Given the description of an element on the screen output the (x, y) to click on. 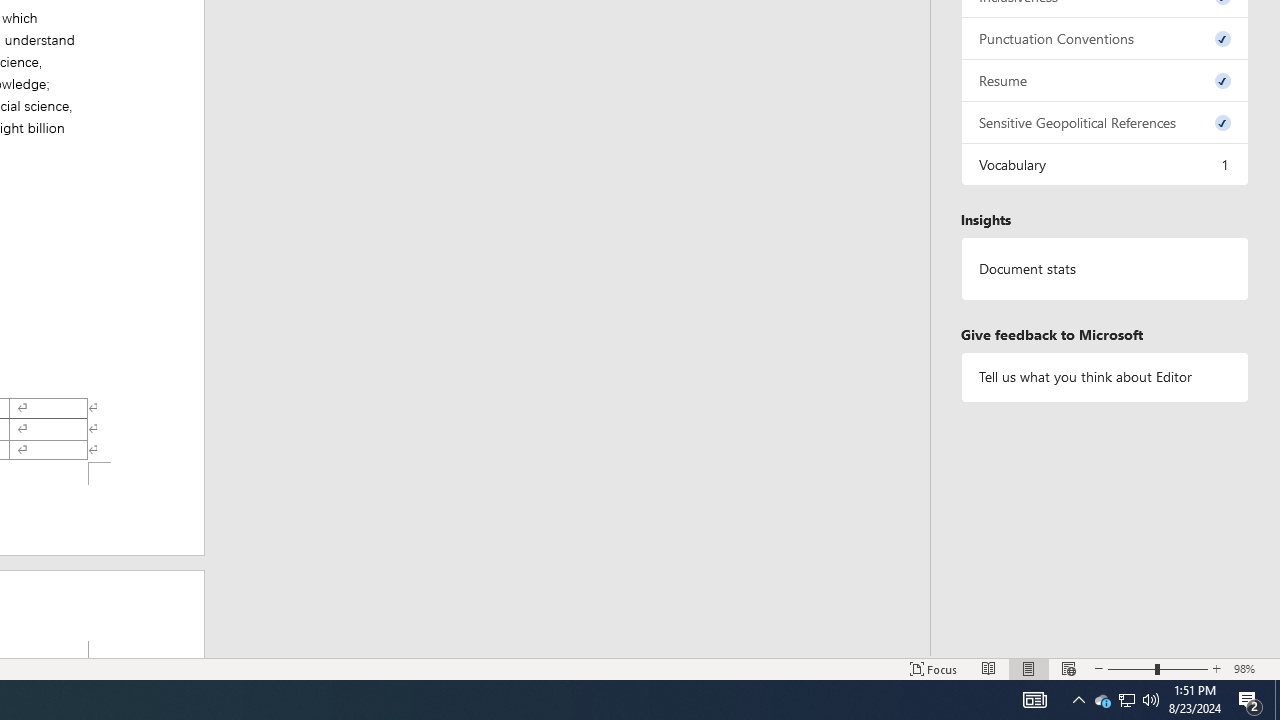
Vocabulary, 1 issue. Press space or enter to review items. (1105, 164)
Tell us what you think about Editor (1105, 376)
Document statistics (1105, 269)
Resume, 0 issues. Press space or enter to review items. (1105, 79)
